Given the description of an element on the screen output the (x, y) to click on. 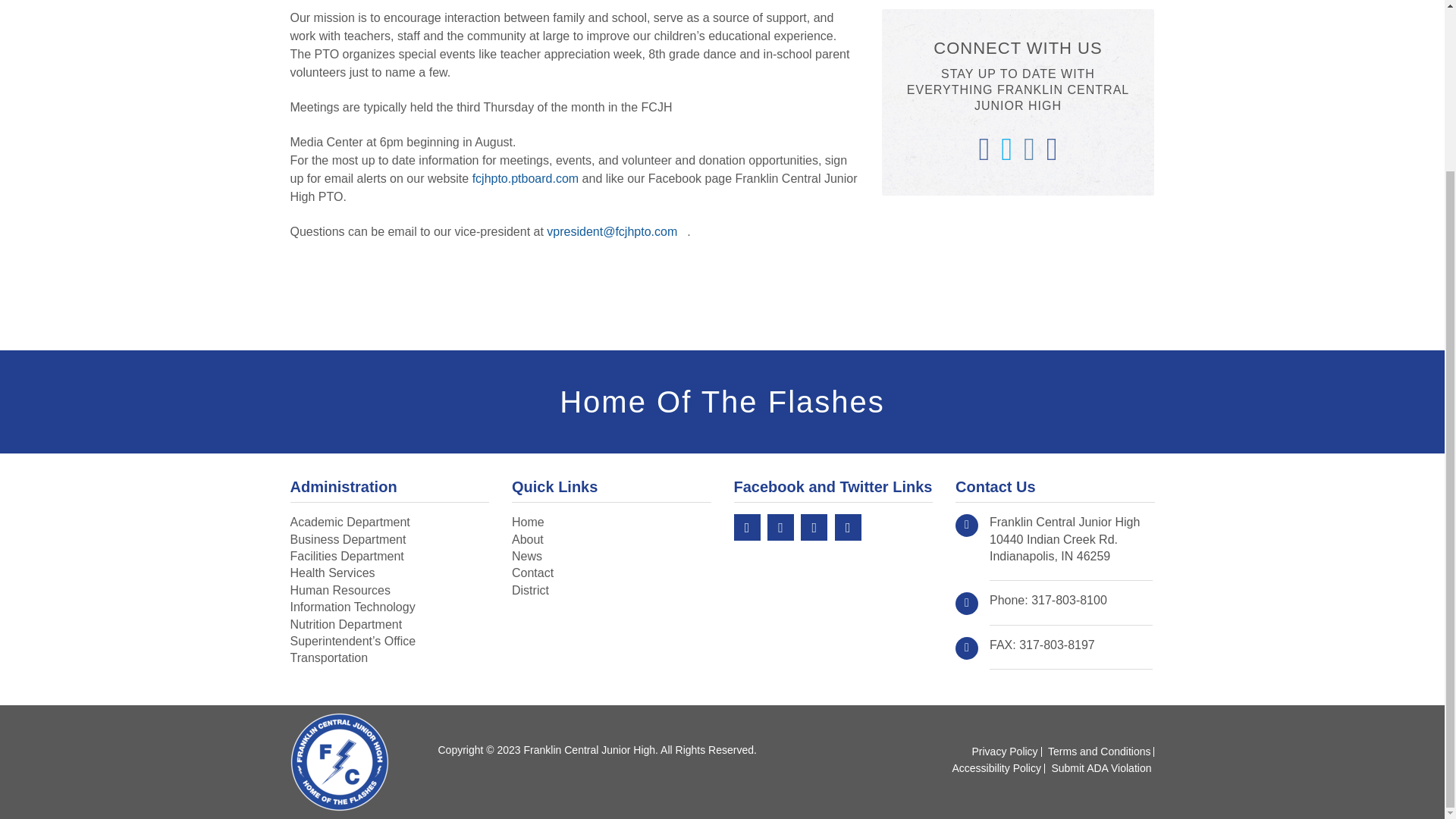
Our Facebook Page (746, 527)
Health Services (331, 572)
Our Twitter Profile (780, 527)
Nutrition Department (345, 624)
Human Resources (339, 590)
Follow link (525, 178)
Information Technology (351, 606)
fcjhpto.ptboard.com (525, 178)
Facilities Department (346, 555)
Academic Department (349, 521)
Follow link (617, 231)
Business Department (347, 539)
Transportation (328, 657)
Our Facebook Page for Disrict (847, 527)
Our Instagram (813, 527)
